Given the description of an element on the screen output the (x, y) to click on. 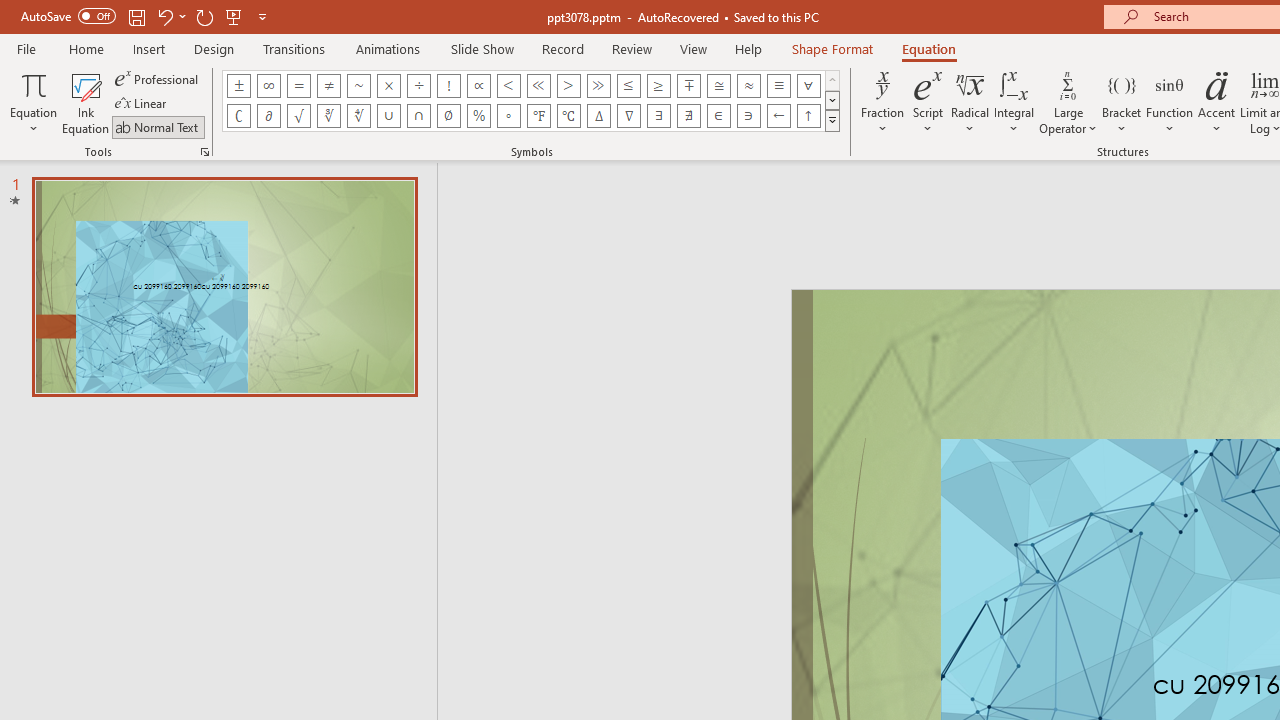
Equation Options... (204, 151)
Equation Symbol Division Sign (418, 85)
Equation Symbol Factorial (448, 85)
Equation Symbol Union (388, 115)
Equation Symbol Degrees Fahrenheit (538, 115)
Equation Symbol Identical To (778, 85)
Equation Symbol Cube Root (328, 115)
